Given the description of an element on the screen output the (x, y) to click on. 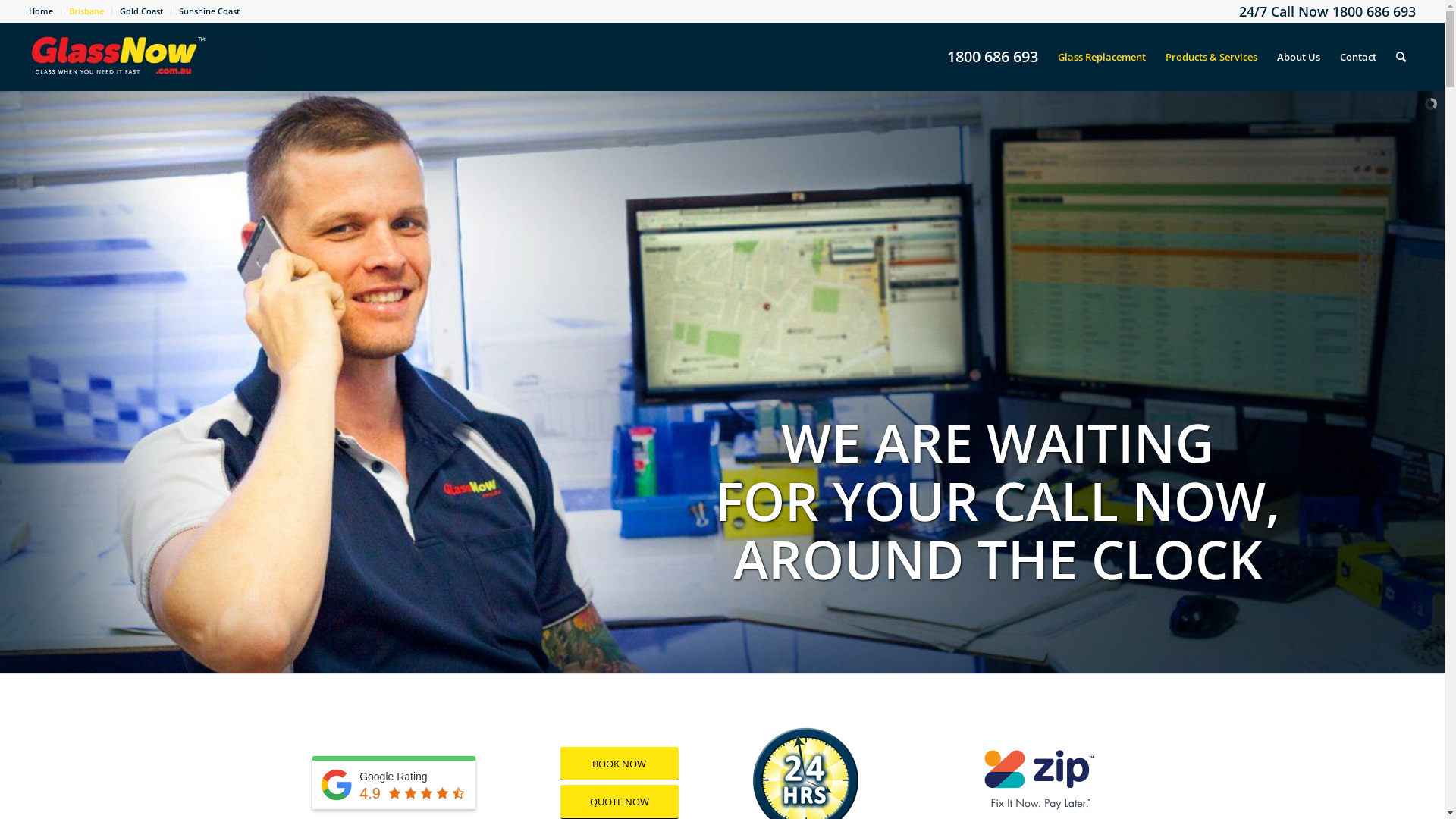
Glass Replacement Element type: text (1101, 56)
Sunshine Coast Element type: text (208, 10)
1800 686 693 Element type: text (992, 56)
About Us Element type: text (1298, 56)
Products & Services Element type: text (1211, 56)
BOOK NOW Element type: text (619, 763)
Home Element type: text (40, 10)
Gold Coast Element type: text (141, 10)
Contact Element type: text (1358, 56)
24/7 Call Now 1800 686 693 Element type: text (1327, 11)
Brisbane Element type: text (86, 10)
